Given the description of an element on the screen output the (x, y) to click on. 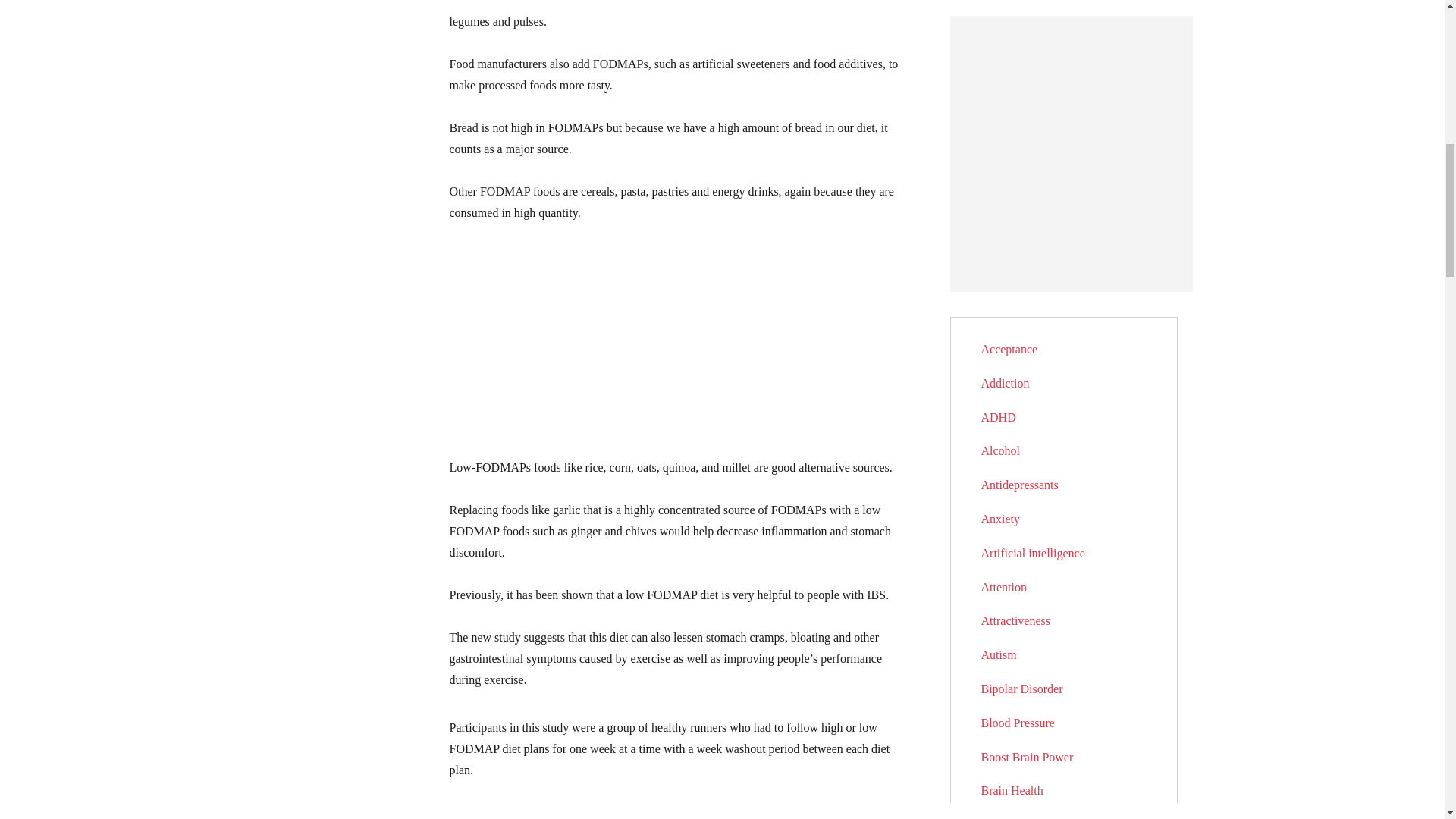
Bipolar Disorder (1021, 688)
Brain Health (1012, 789)
Artificial intelligence (1032, 553)
Attractiveness (1016, 620)
Anxiety (1000, 518)
Alcohol (1000, 450)
Addiction (1005, 382)
Antidepressants (1019, 484)
Autism (998, 654)
Advertisement (676, 350)
Caffeine (1002, 818)
Acceptance (1009, 349)
Boost Brain Power (1027, 757)
Blood Pressure (1017, 722)
ADHD (998, 417)
